Given the description of an element on the screen output the (x, y) to click on. 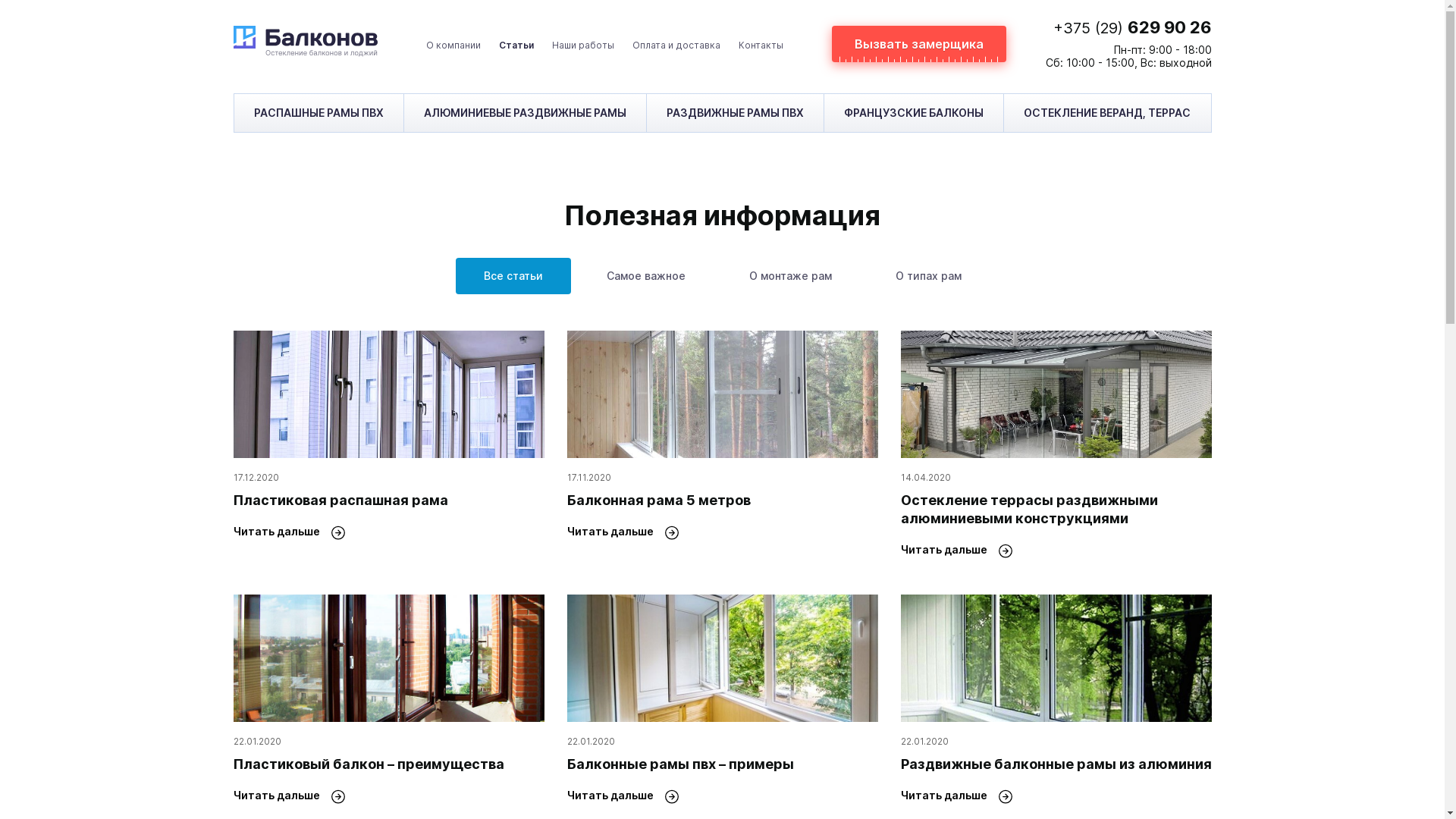
+375 (29) 629 90 26 Element type: text (1131, 27)
